Given the description of an element on the screen output the (x, y) to click on. 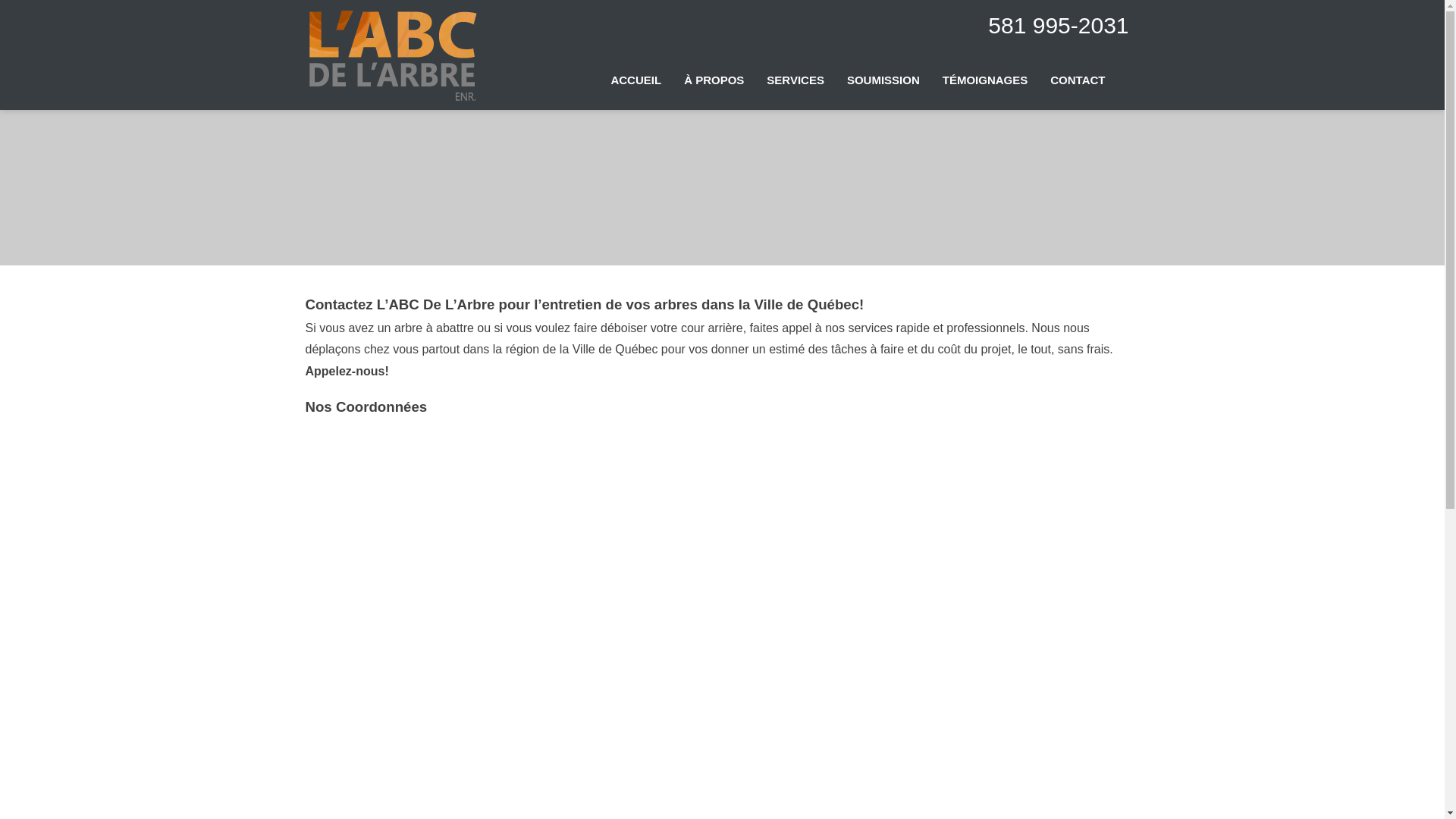
CONTACT Element type: text (1077, 79)
SERVICES Element type: text (795, 79)
SOUMISSION Element type: text (883, 79)
ACCUEIL Element type: text (635, 79)
